Given the description of an element on the screen output the (x, y) to click on. 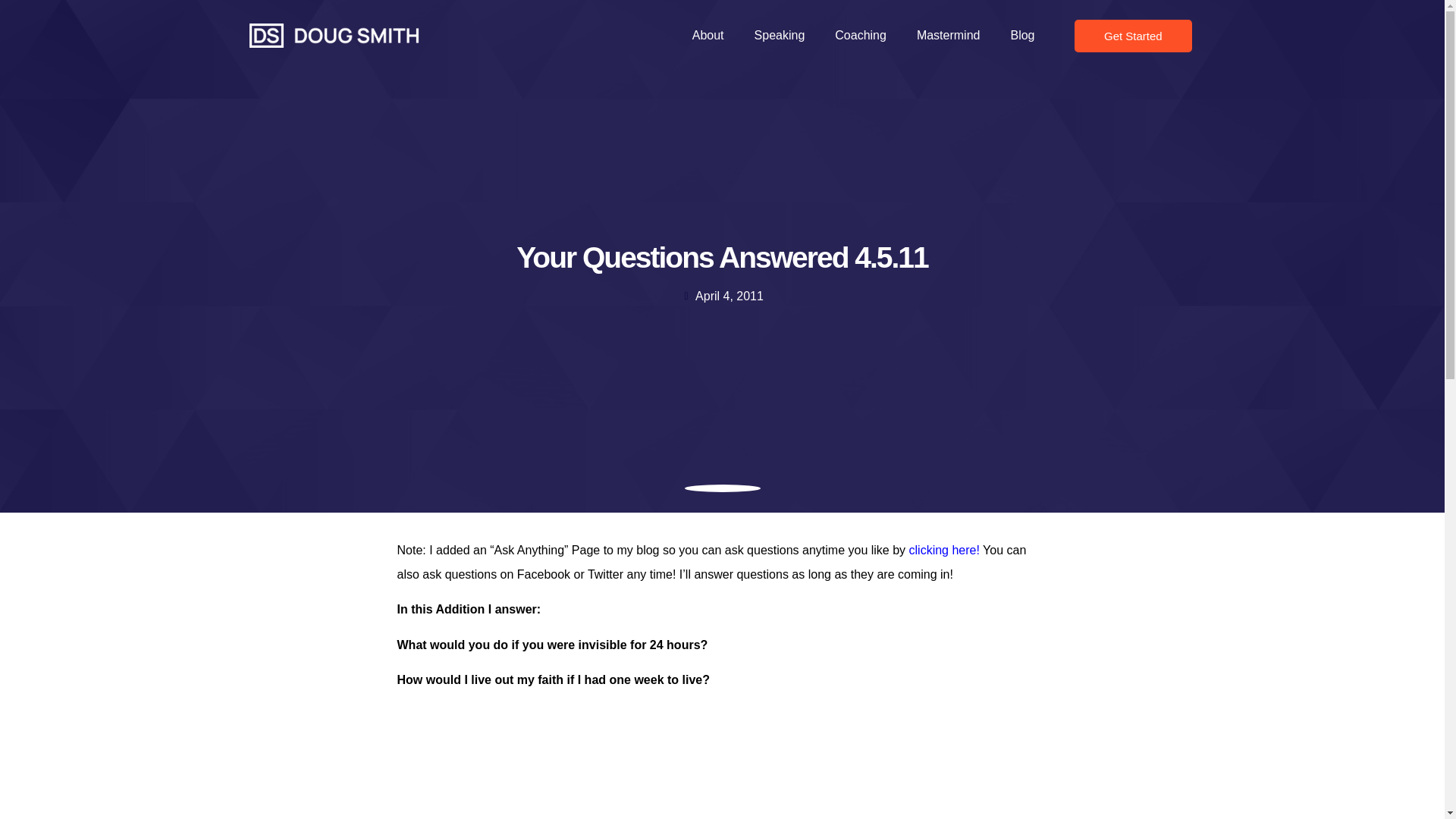
Coaching (860, 35)
Speaking (780, 35)
Doug-Smith-Logo (333, 35)
Get Started (1133, 35)
April 4, 2011 (721, 295)
Blog (1021, 35)
Mastermind (948, 35)
clicking here! (942, 549)
About (708, 35)
